Given the description of an element on the screen output the (x, y) to click on. 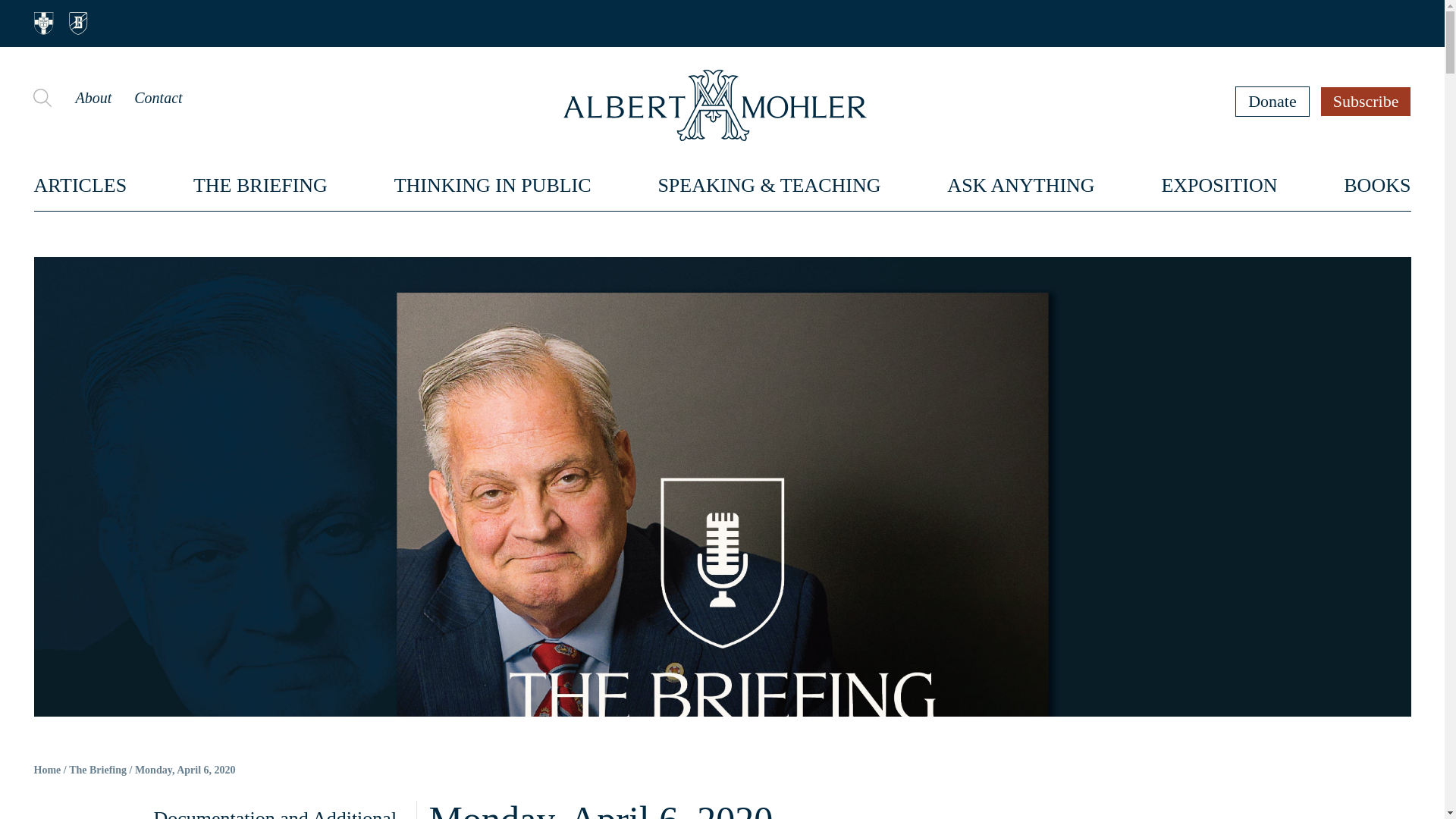
Home (47, 770)
Subscribe (1366, 101)
ASK ANYTHING (1020, 185)
EXPOSITION (1218, 185)
Donate (1272, 101)
BOOKS (1376, 185)
About (93, 97)
ARTICLES (79, 185)
THINKING IN PUBLIC (492, 185)
THE BRIEFING (260, 185)
